Given the description of an element on the screen output the (x, y) to click on. 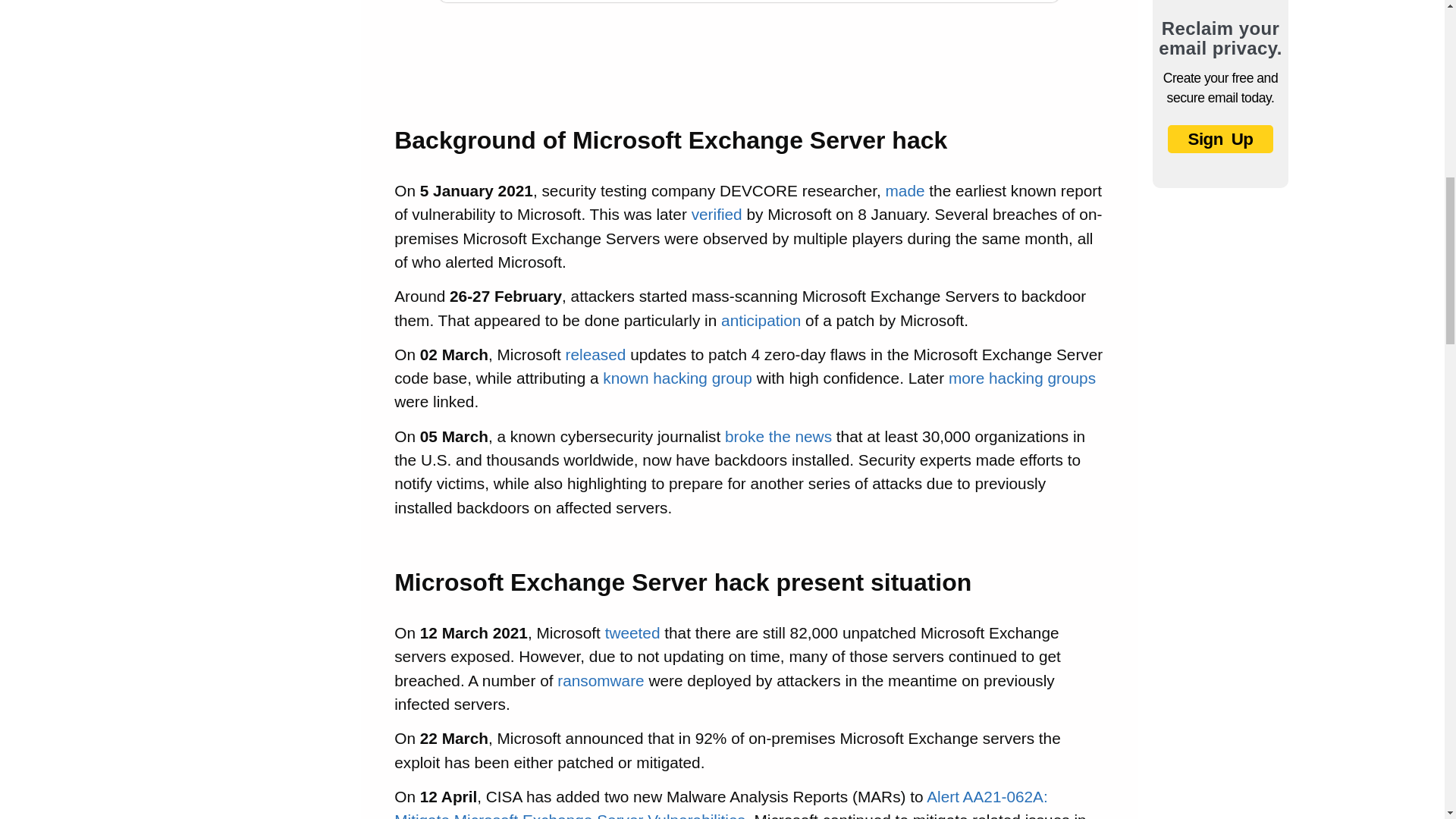
made (904, 190)
